Given the description of an element on the screen output the (x, y) to click on. 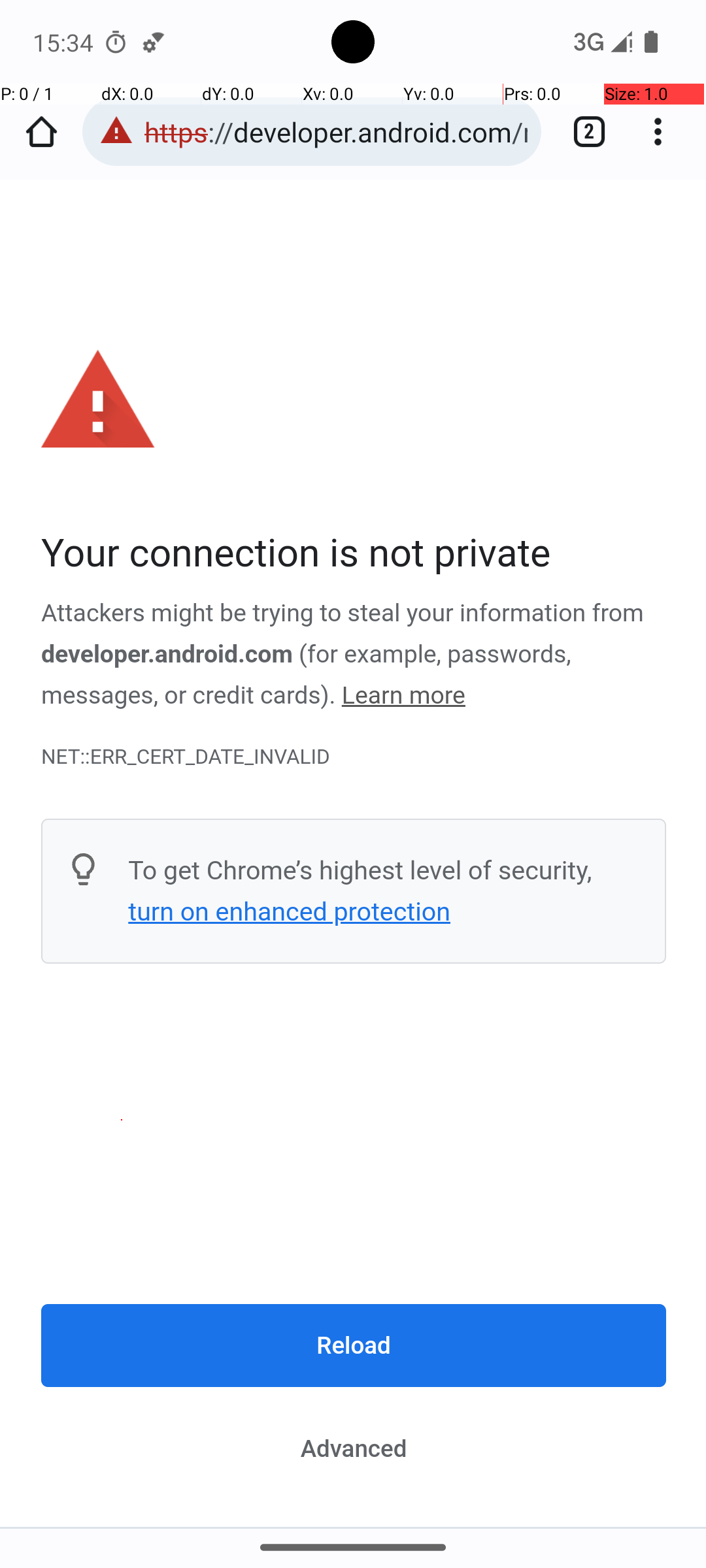
https://developer.android.com/reference/java/text/SimpleDateFormat#date-and-time-patterns Element type: android.widget.EditText (335, 131)
developer.android.com Element type: android.widget.TextView (166, 653)
